Given the description of an element on the screen output the (x, y) to click on. 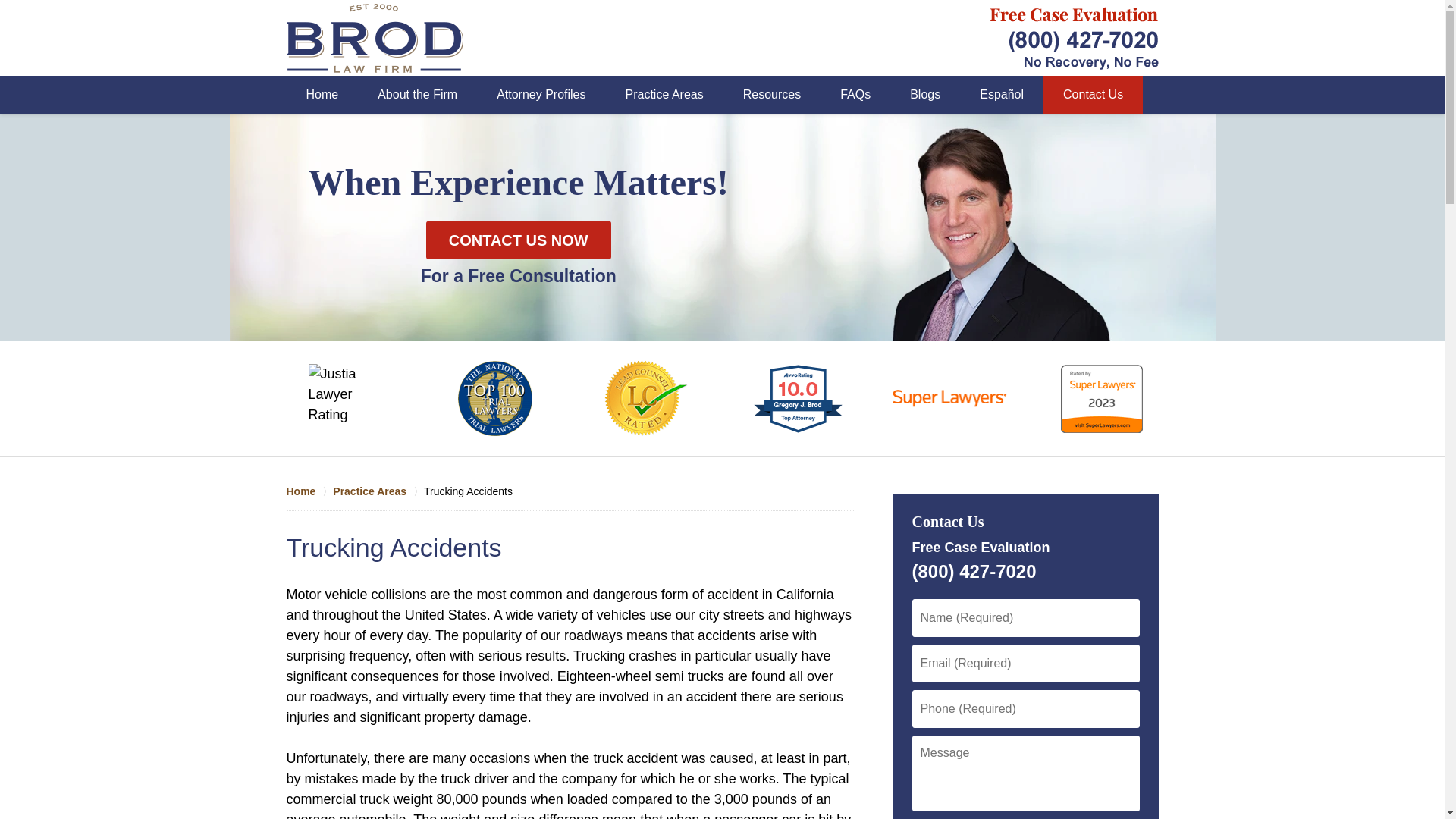
Home (309, 491)
Resources (772, 94)
Home (322, 94)
CONTACT US NOW (518, 240)
Contact Oakland Accident Attorney Brod Law Firm (1074, 36)
Contact Us (1092, 94)
FAQs (855, 94)
Practice Areas (664, 94)
Practice Areas (378, 491)
Back to Home (374, 37)
